Given the description of an element on the screen output the (x, y) to click on. 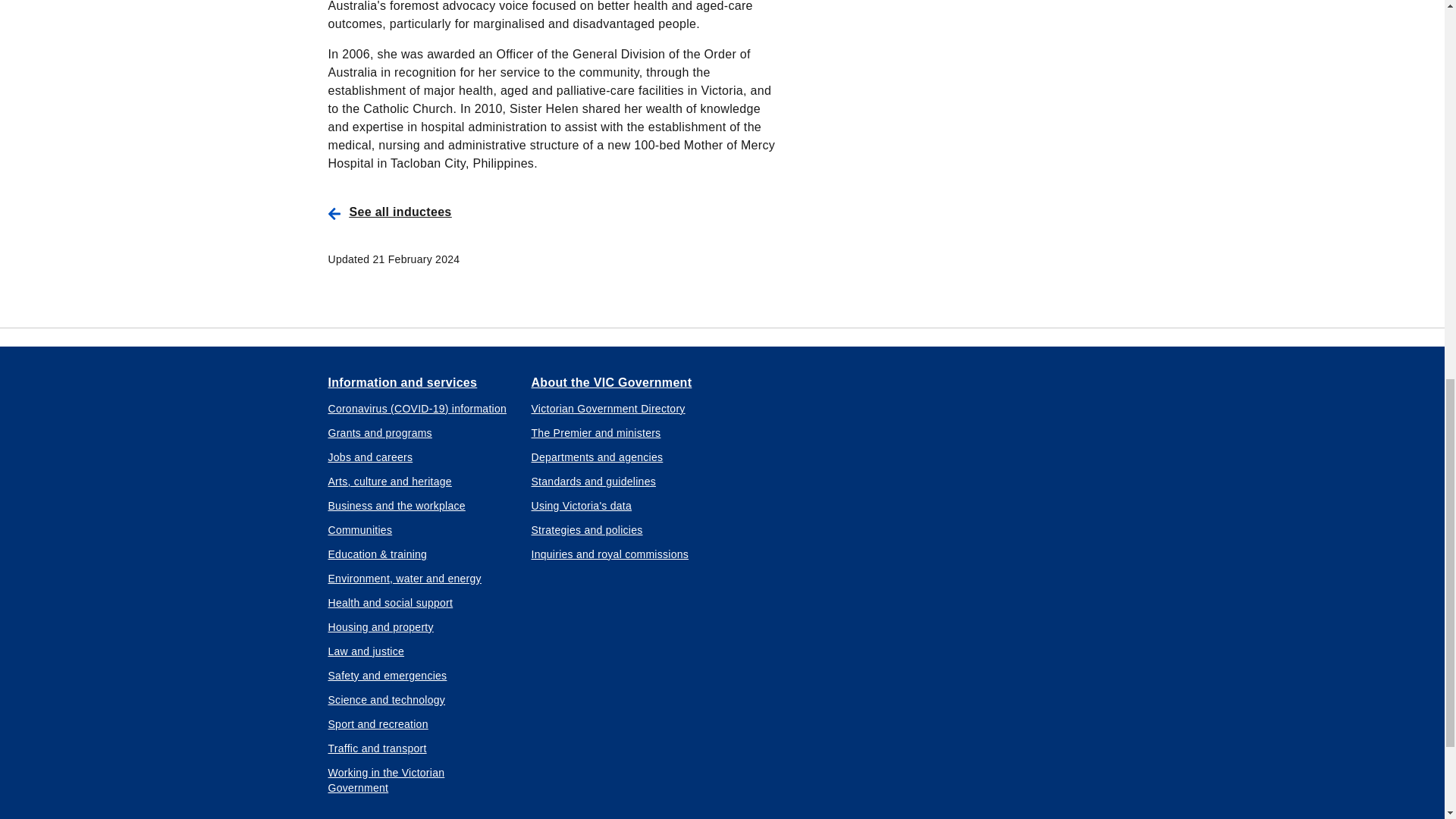
About the VIC Government (611, 381)
Traffic and transport (376, 747)
Health and social support (389, 601)
Departments and agencies (596, 456)
Grants and programs (378, 432)
Safety and emergencies (386, 674)
See all inductees (563, 212)
Inquiries and royal commissions (609, 553)
Environment, water and energy (403, 577)
Standards and guidelines (593, 480)
Victorian Government Directory (607, 407)
Strategies and policies (586, 529)
Arts, culture and heritage (389, 480)
Science and technology (386, 698)
Sport and recreation (377, 723)
